Given the description of an element on the screen output the (x, y) to click on. 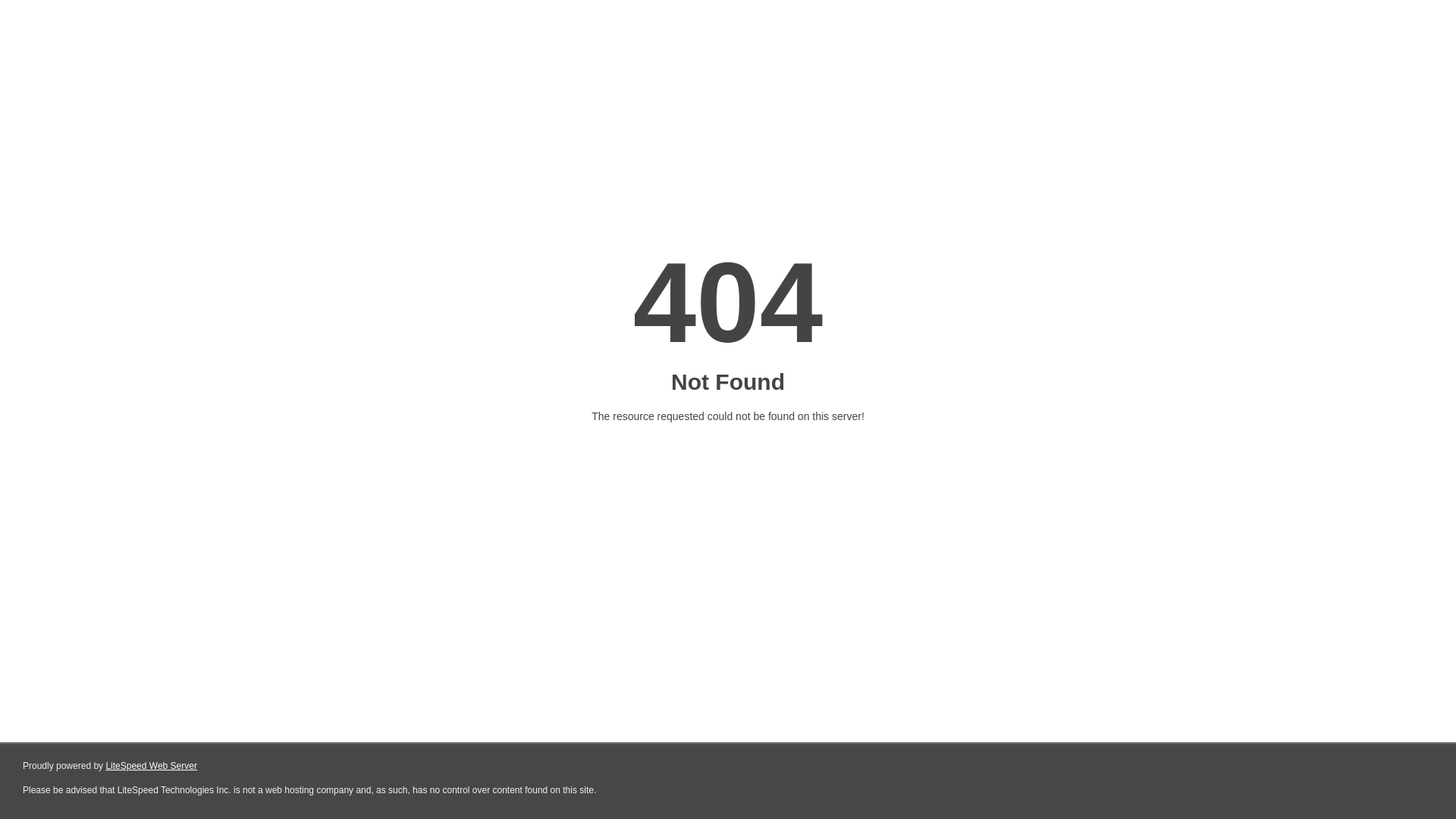
LiteSpeed Web Server Element type: text (151, 765)
